Given the description of an element on the screen output the (x, y) to click on. 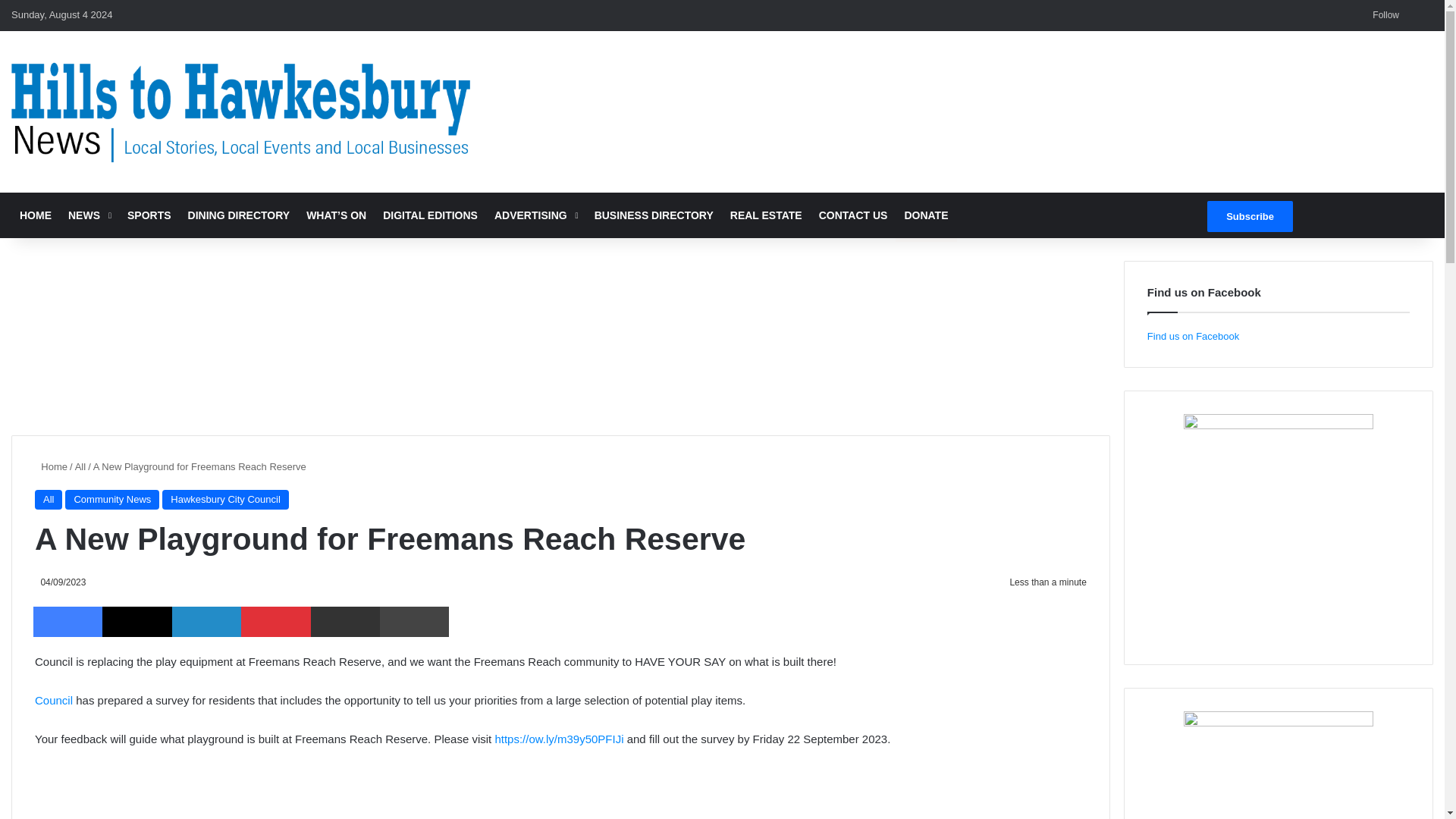
Pinterest (275, 621)
Follow (1382, 15)
Subscribe (1249, 215)
Facebook (67, 621)
DIGITAL EDITIONS (430, 215)
Hills to Hawkesbury News (240, 111)
LinkedIn (206, 621)
REAL ESTATE (766, 215)
SPORTS (149, 215)
ADVERTISING (536, 215)
DINING DIRECTORY (238, 215)
BUSINESS DIRECTORY (654, 215)
NEWS (89, 215)
X (136, 621)
HOME (35, 215)
